Given the description of an element on the screen output the (x, y) to click on. 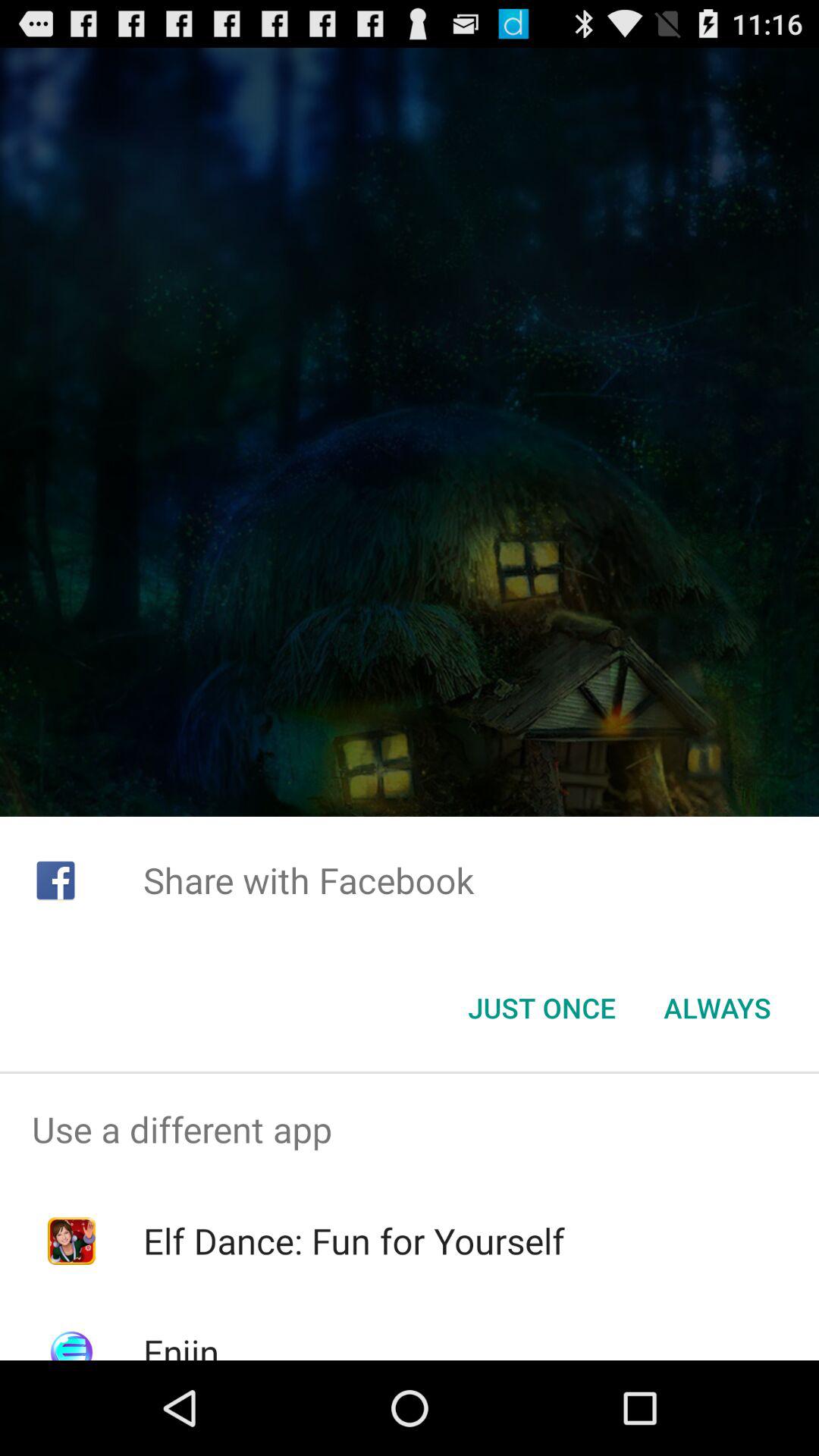
flip until elf dance fun icon (353, 1240)
